Given the description of an element on the screen output the (x, y) to click on. 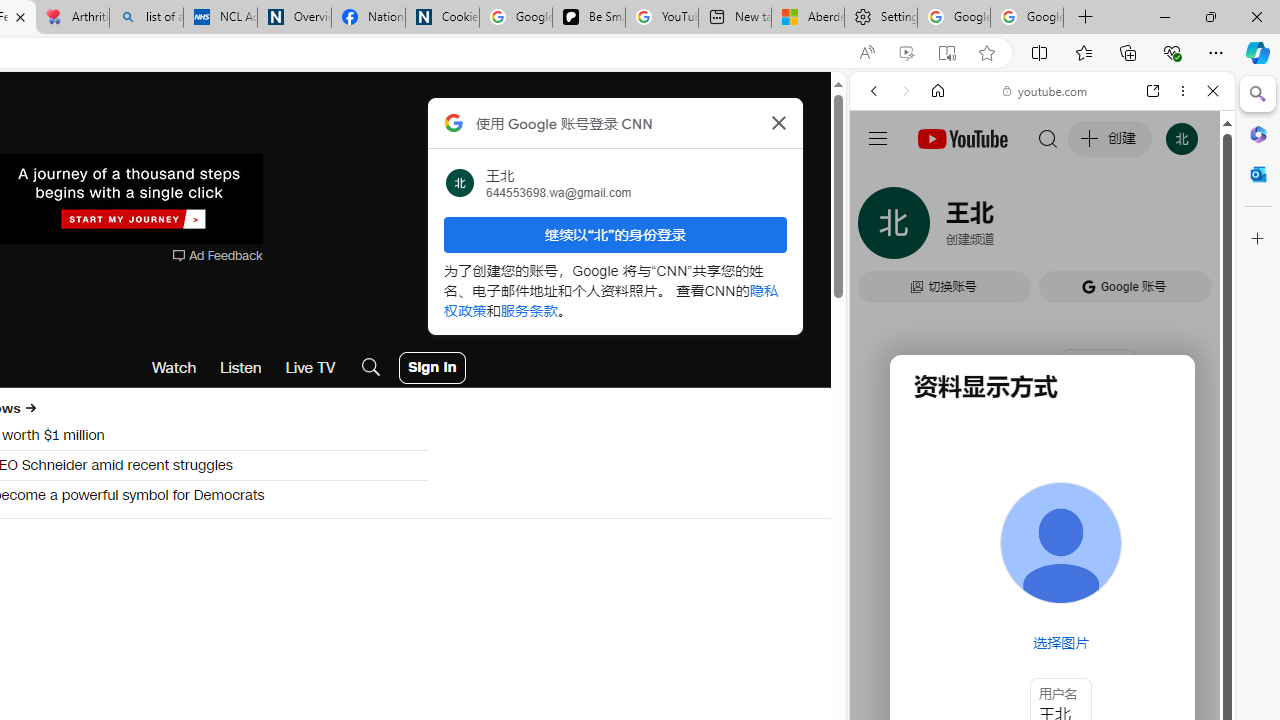
Global web icon (888, 288)
Open link in new tab (1153, 91)
IMAGES (939, 228)
Music (1042, 543)
WEB   (882, 228)
Be Smart | creating Science videos | Patreon (588, 17)
Close Customize pane (1258, 239)
